Given the description of an element on the screen output the (x, y) to click on. 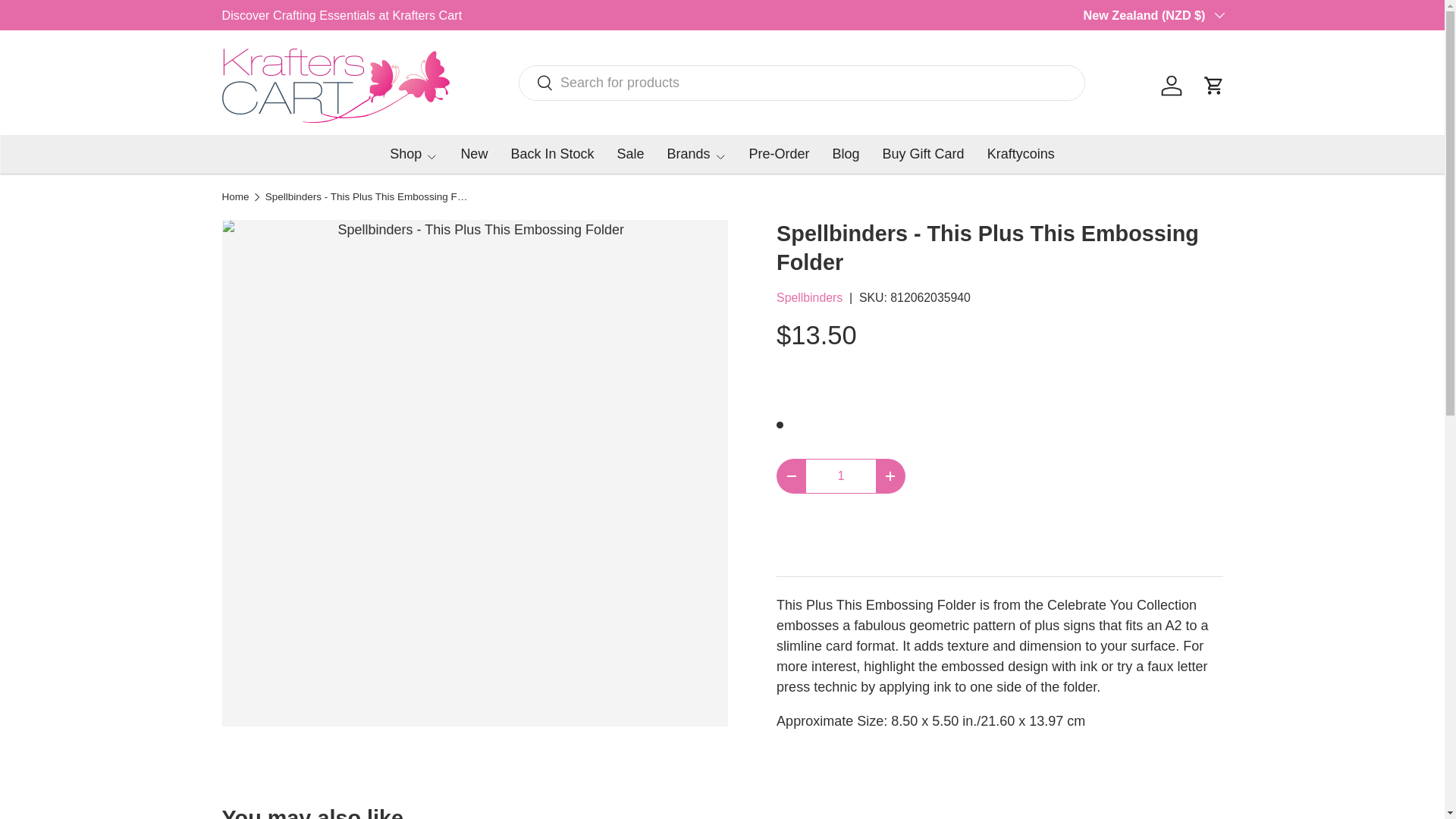
Skip to content (64, 21)
Search (536, 83)
Log in (1171, 85)
1 (841, 475)
Cart (1213, 85)
Shop (414, 154)
